Given the description of an element on the screen output the (x, y) to click on. 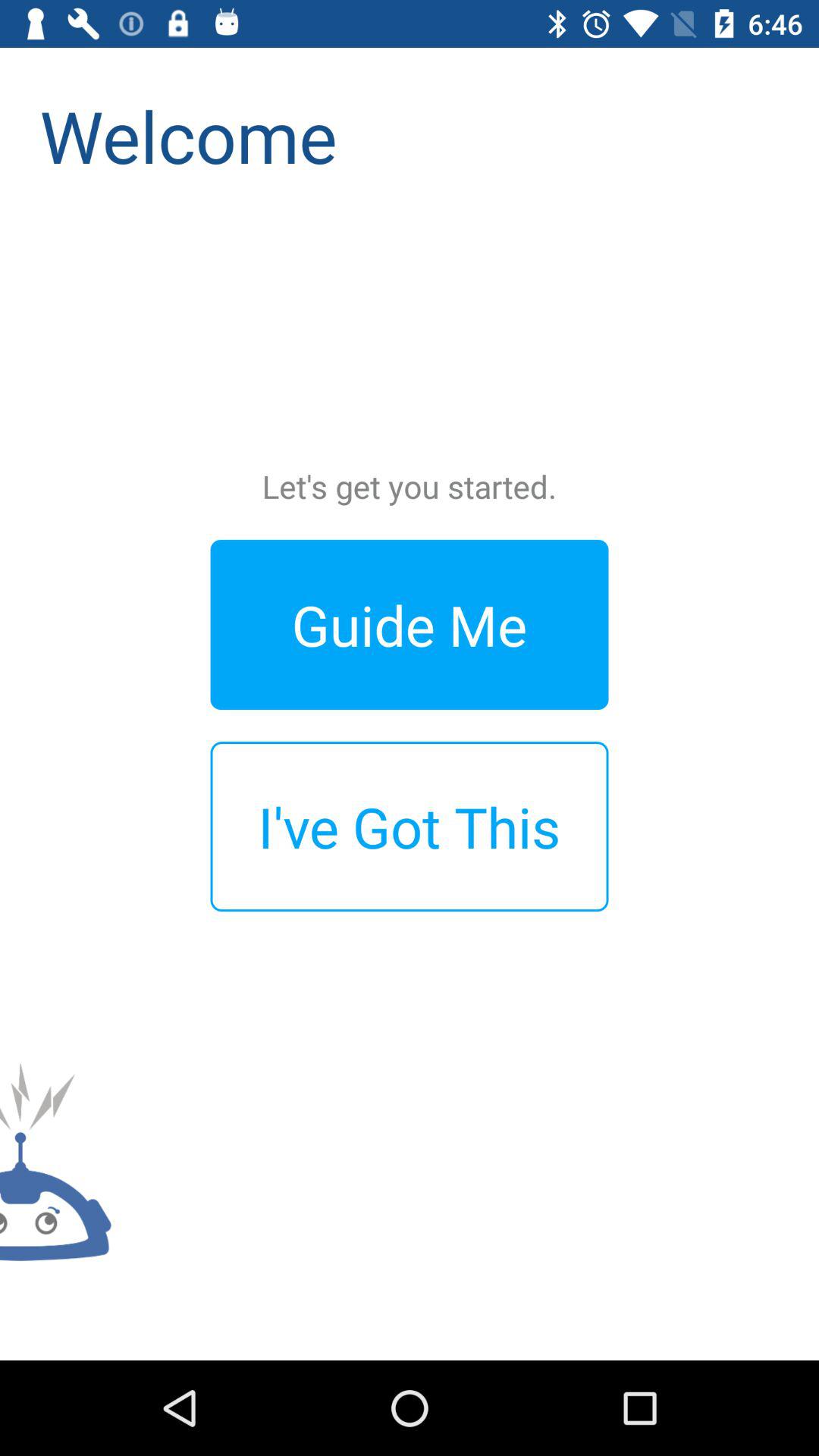
open the guide me icon (409, 624)
